Given the description of an element on the screen output the (x, y) to click on. 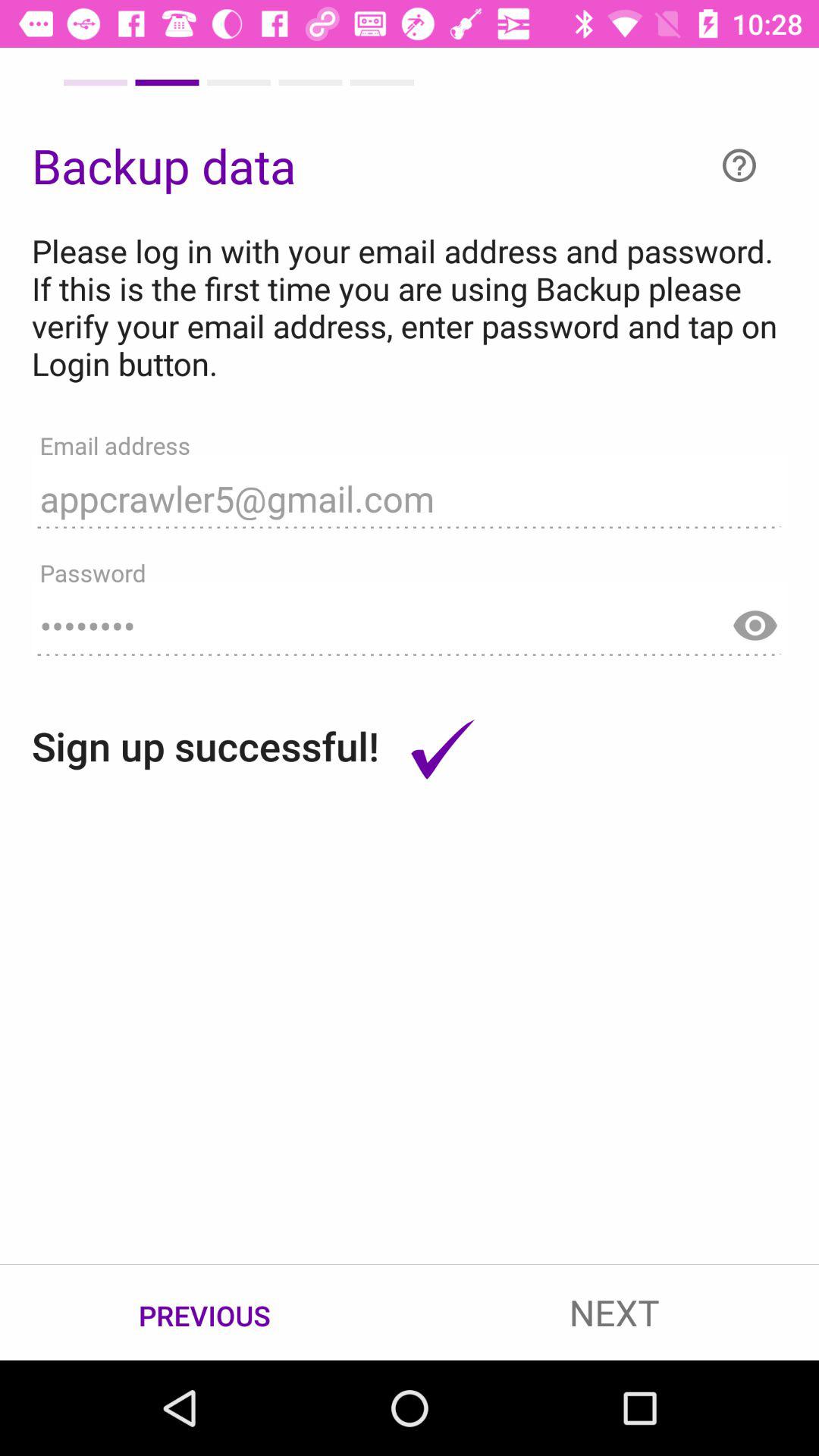
launch item above the sign up successful! icon (409, 618)
